Given the description of an element on the screen output the (x, y) to click on. 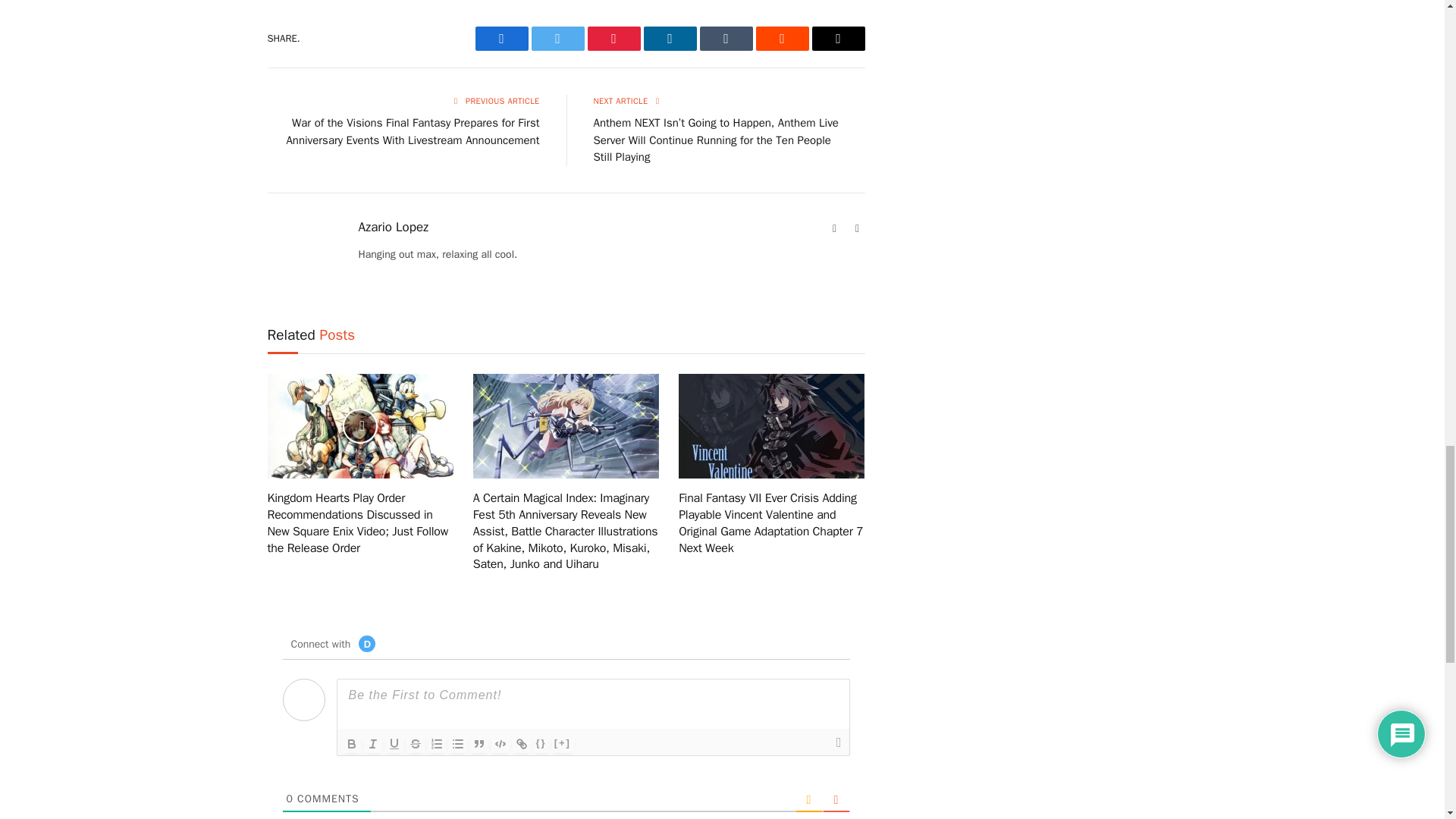
Share on Facebook (500, 38)
